Given the description of an element on the screen output the (x, y) to click on. 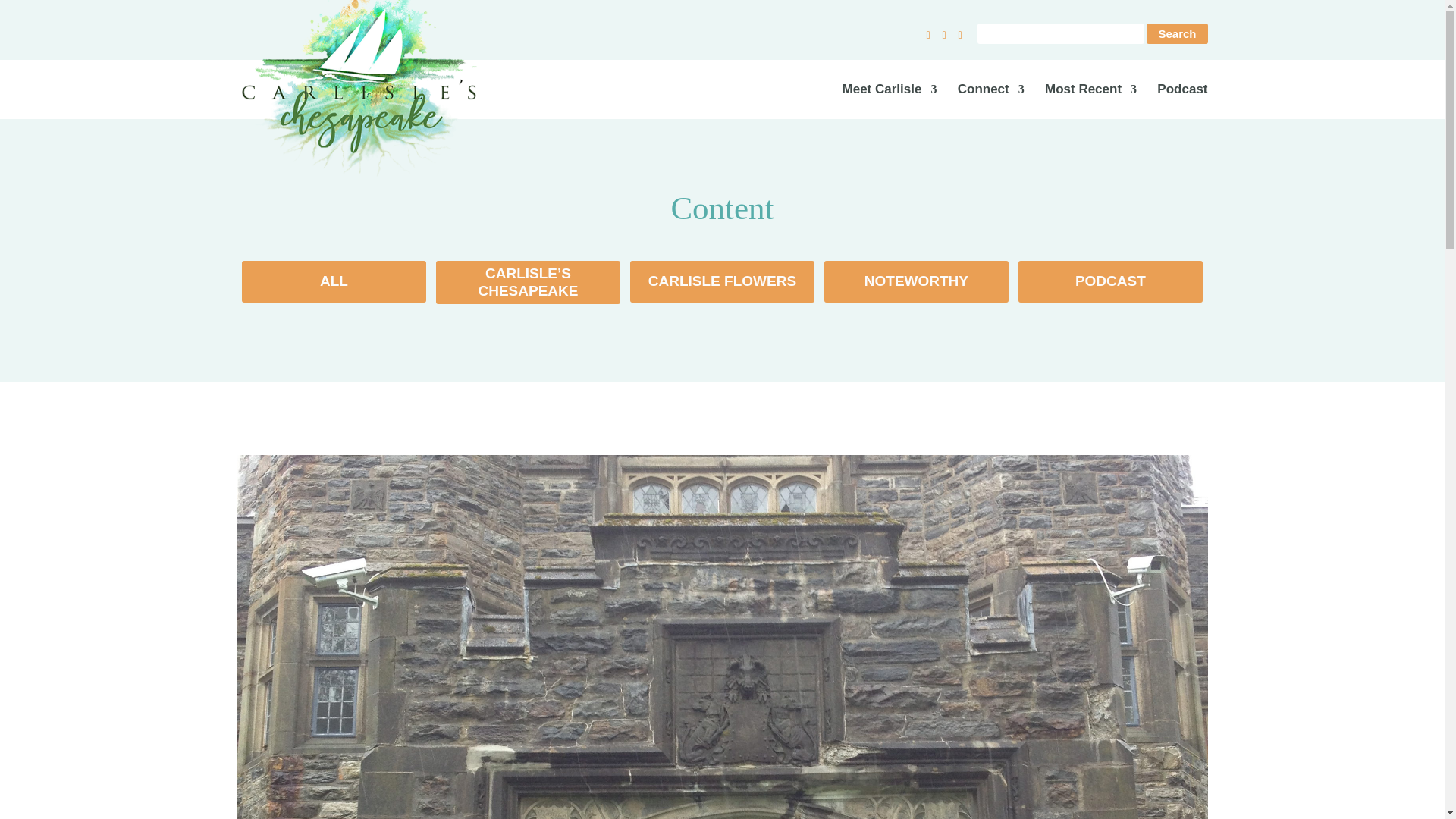
Search (1177, 32)
ALL (333, 281)
Search (1177, 32)
PODCAST (1109, 281)
Meet Carlisle (890, 101)
Most Recent (1091, 101)
CARLISLE FLOWERS (721, 281)
NOTEWORTHY (916, 281)
Podcast (1182, 101)
Connect (991, 101)
